Given the description of an element on the screen output the (x, y) to click on. 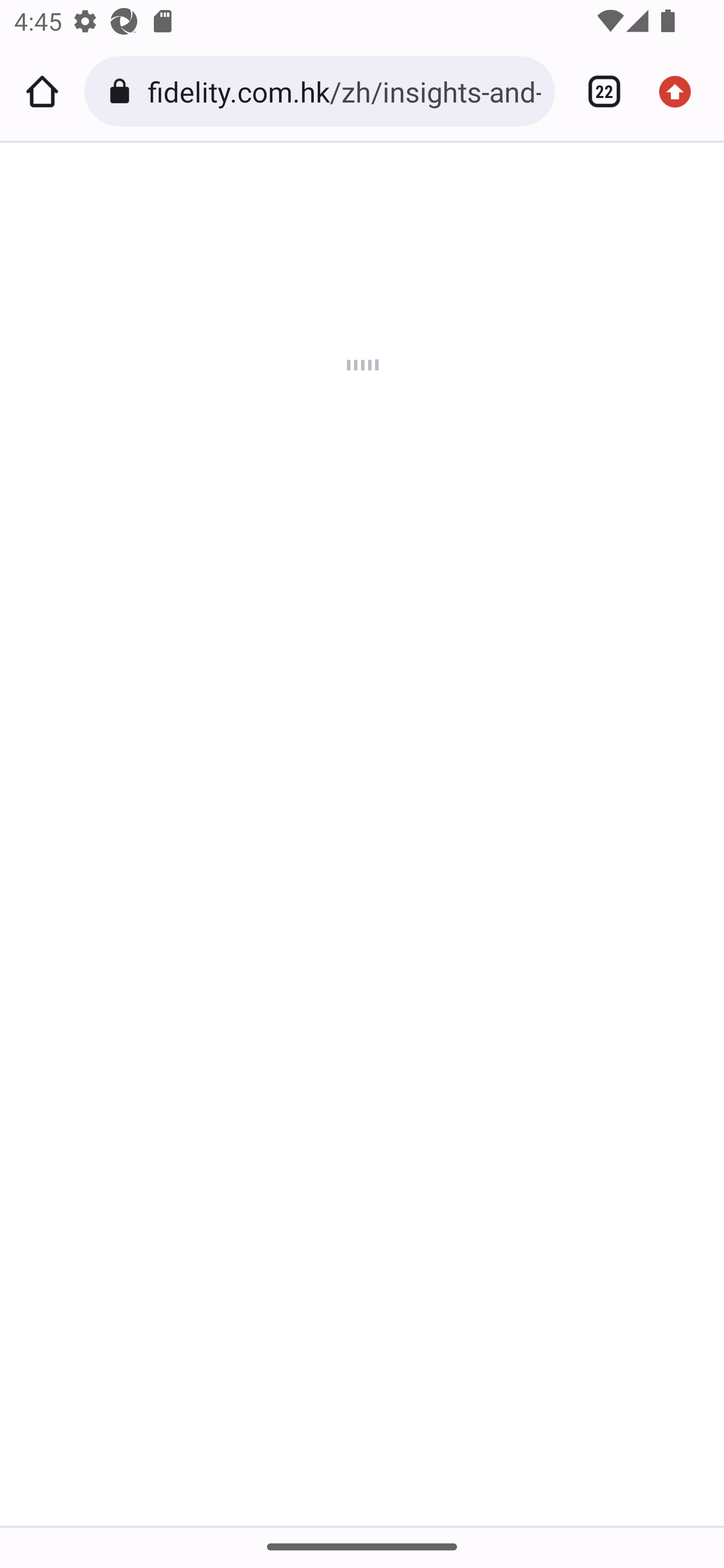
Home (42, 91)
Connection is secure (122, 91)
Switch or close tabs (597, 91)
Update available. More options (681, 91)
